Given the description of an element on the screen output the (x, y) to click on. 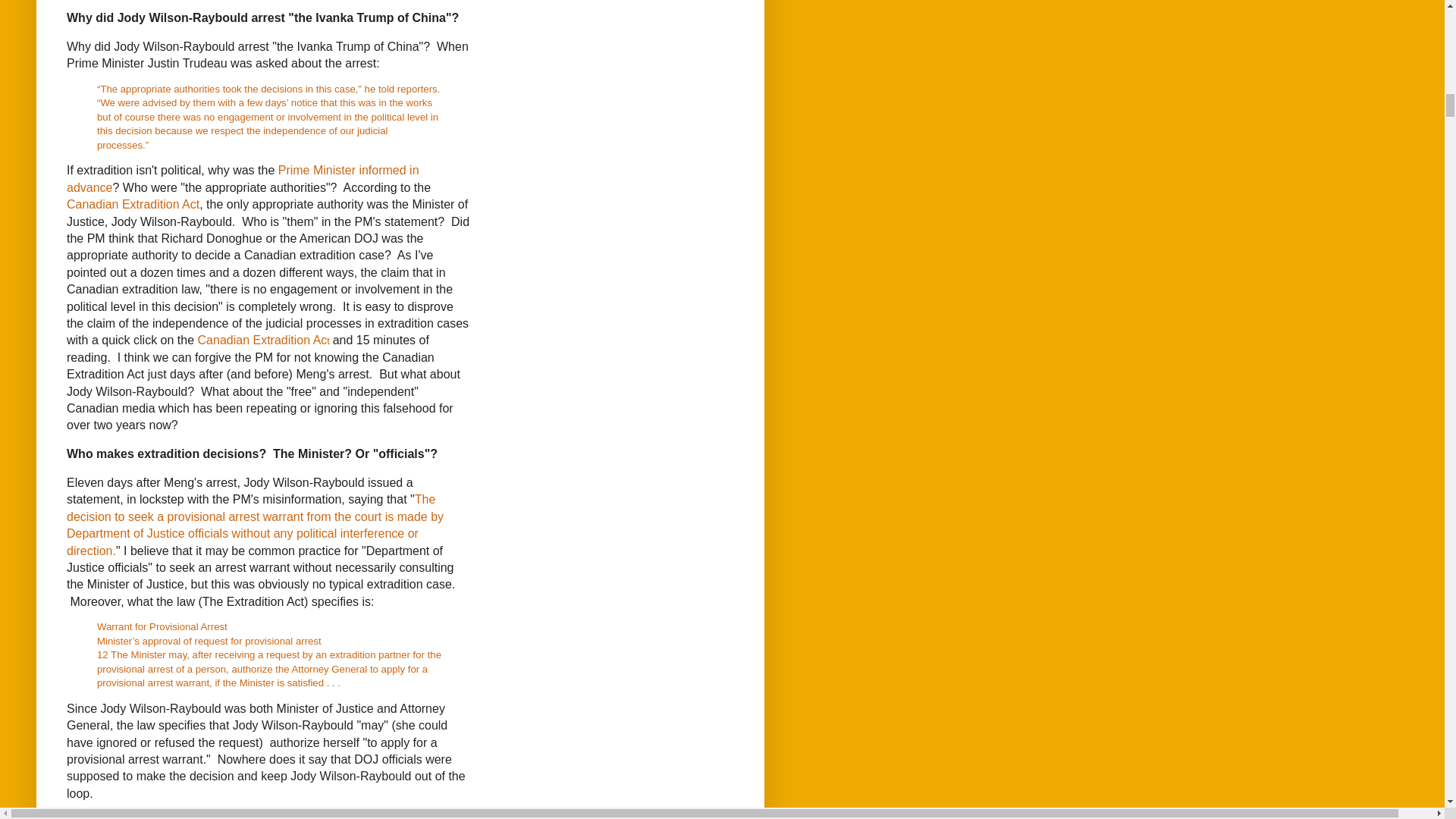
Canadian Extradition Act (132, 204)
Warrant for Provisional Arrest (162, 626)
Prime Minister informed in advance (242, 178)
Canadian Extradition Act (264, 340)
